Given the description of an element on the screen output the (x, y) to click on. 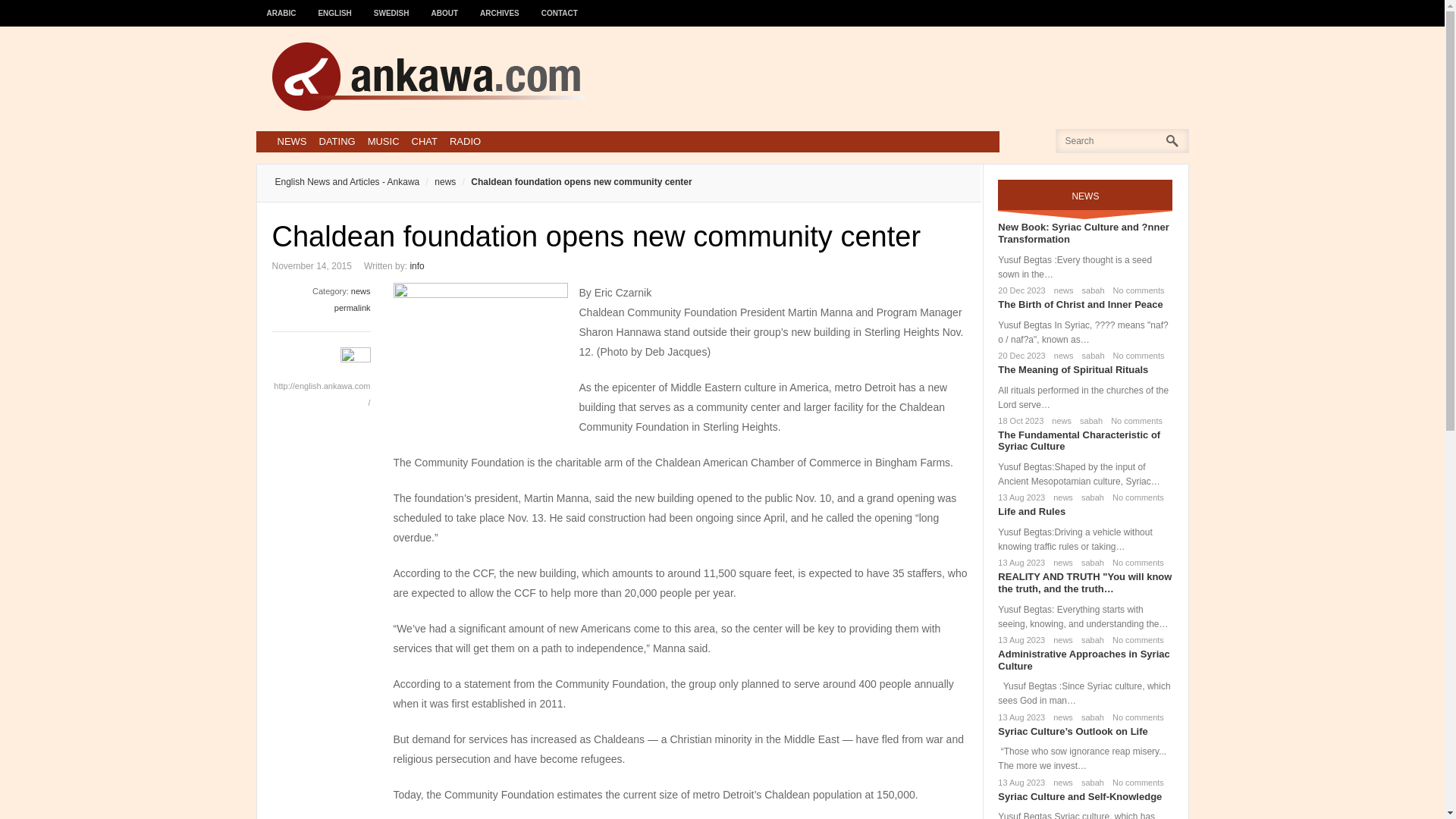
No comments (1134, 497)
DATING (337, 141)
ENGLISH (334, 5)
No comments (1135, 289)
news (1061, 289)
sabah (1090, 355)
The Meaning of Spiritual Rituals (1072, 369)
The Birth of Christ and Inner Peace (1079, 304)
RADIO (465, 141)
